Given the description of an element on the screen output the (x, y) to click on. 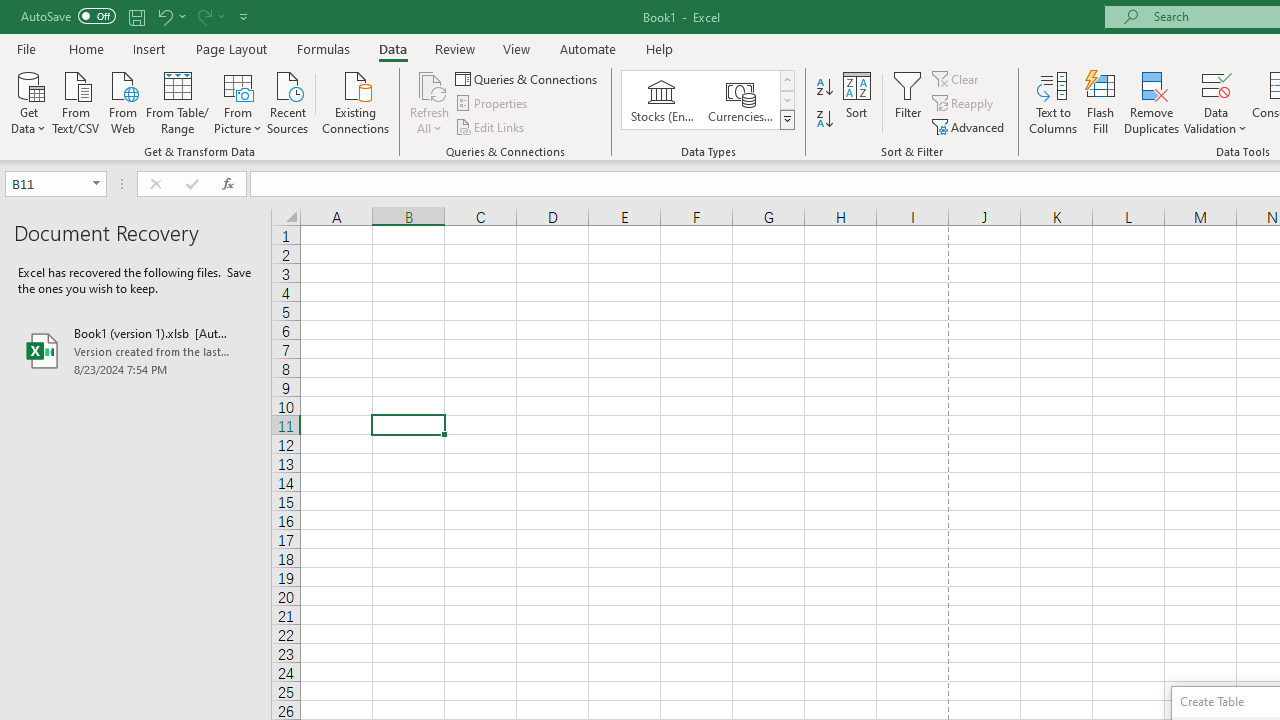
Queries & Connections (527, 78)
Properties (492, 103)
Flash Fill (1101, 102)
Get Data (28, 101)
AutomationID: ConvertToLinkedEntity (708, 99)
Stocks (English) (662, 100)
From Table/Range (177, 101)
Text to Columns... (1053, 102)
Sort... (856, 102)
